Given the description of an element on the screen output the (x, y) to click on. 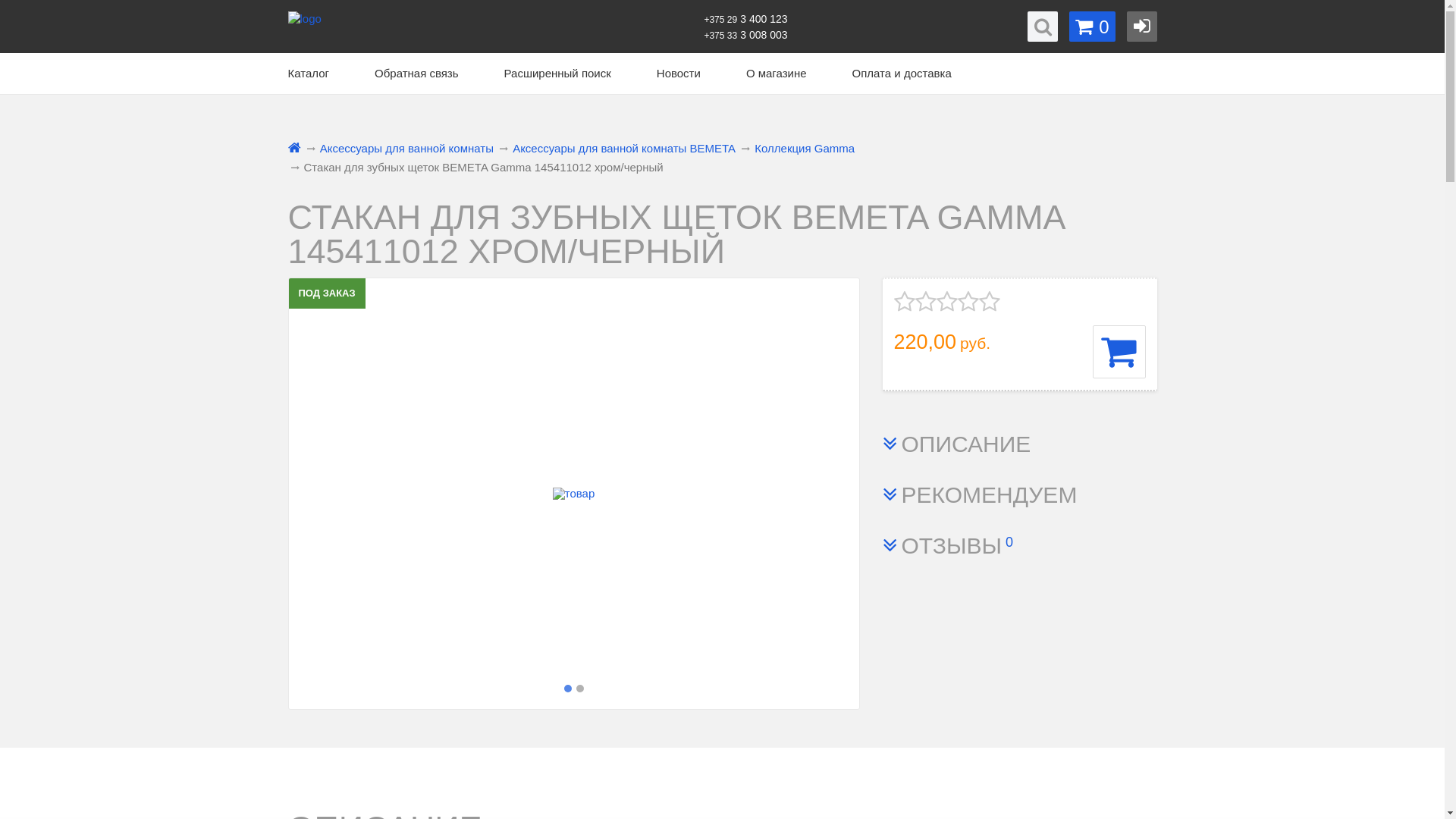
0 Element type: text (1091, 26)
